Given the description of an element on the screen output the (x, y) to click on. 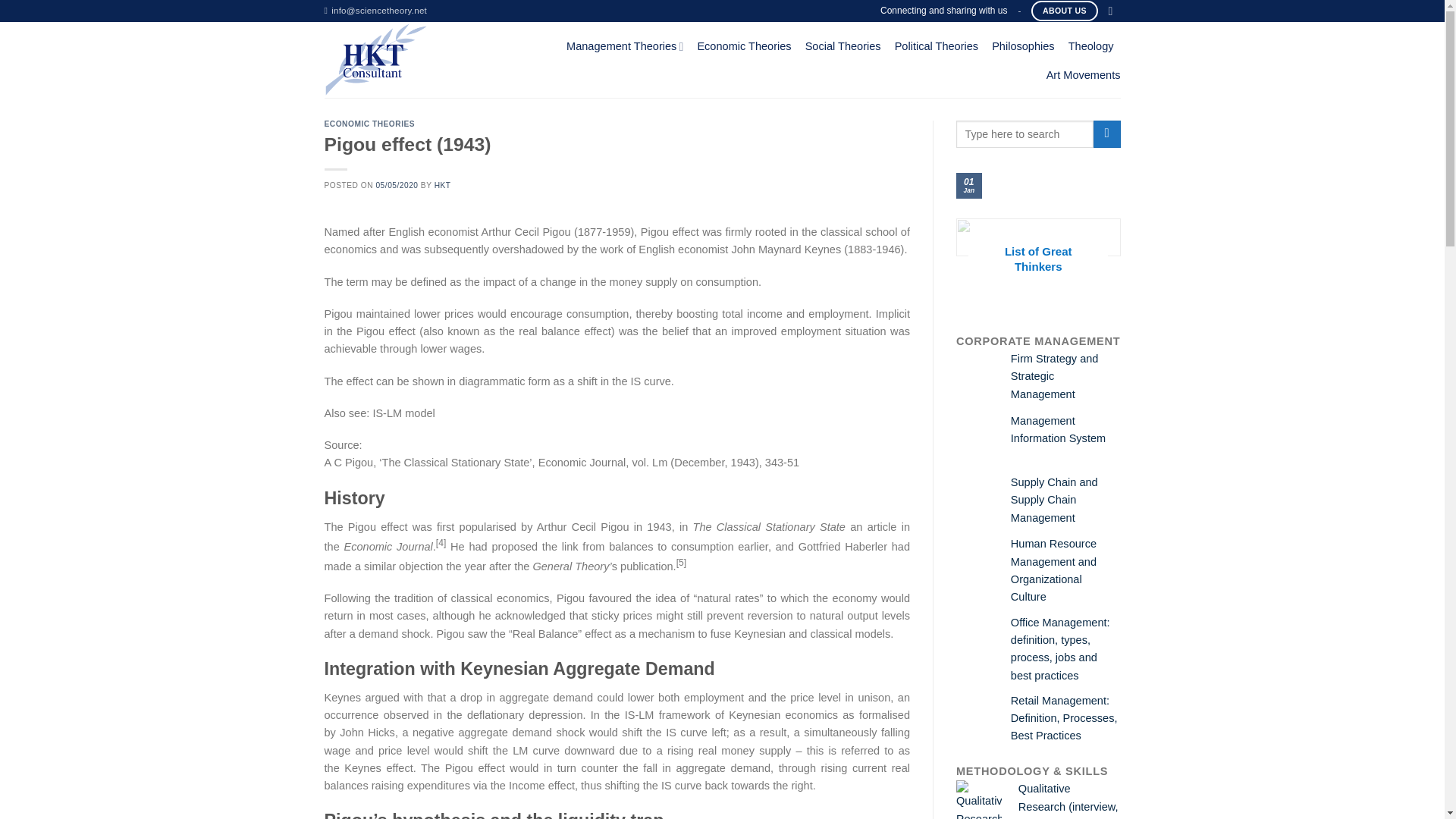
Political Theories (936, 45)
ABOUT US (1063, 10)
HKT Consultant (415, 59)
Economic Theories (743, 45)
Social Theories (842, 45)
Management Theories (624, 46)
